Given the description of an element on the screen output the (x, y) to click on. 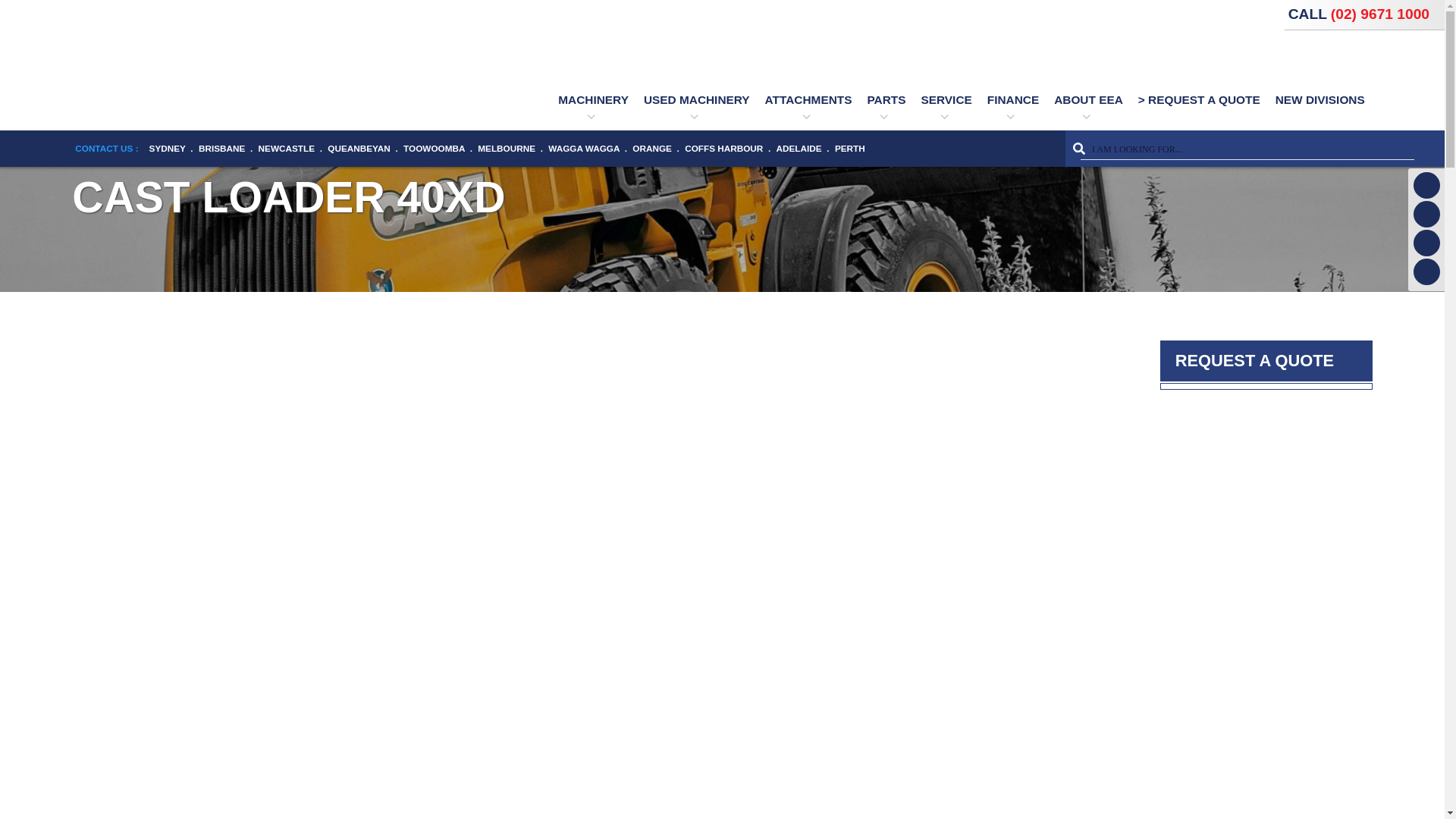
MACHINERY (593, 99)
